Given the description of an element on the screen output the (x, y) to click on. 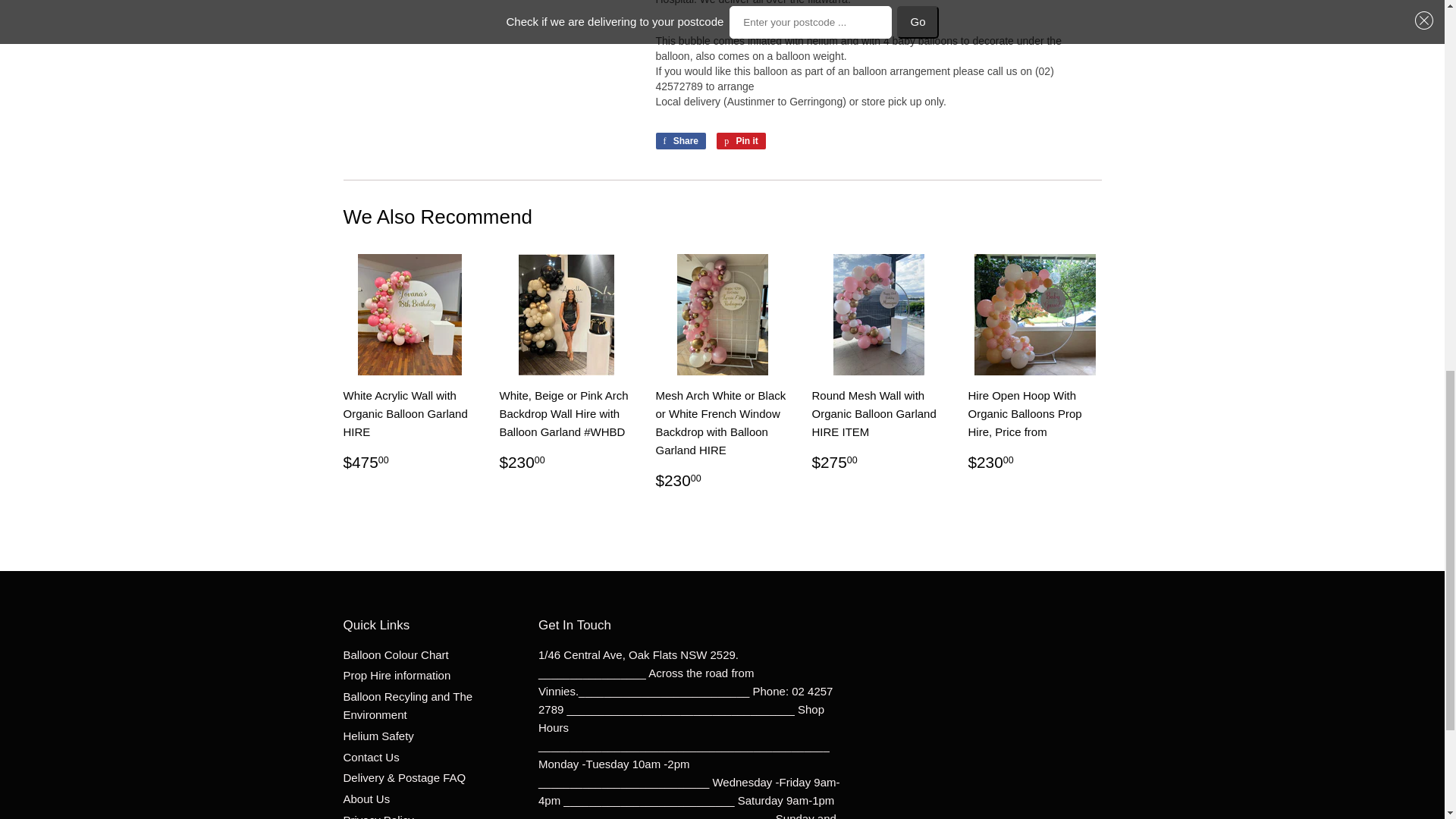
Share (680, 140)
About Us (366, 798)
Pin it (740, 140)
Contact Us (370, 757)
Balloon Colour Chart (395, 654)
Prop Hire information (395, 675)
Balloon Recyling and The Environment (406, 705)
Helium Safety (377, 735)
Privacy Policy (377, 816)
